Given the description of an element on the screen output the (x, y) to click on. 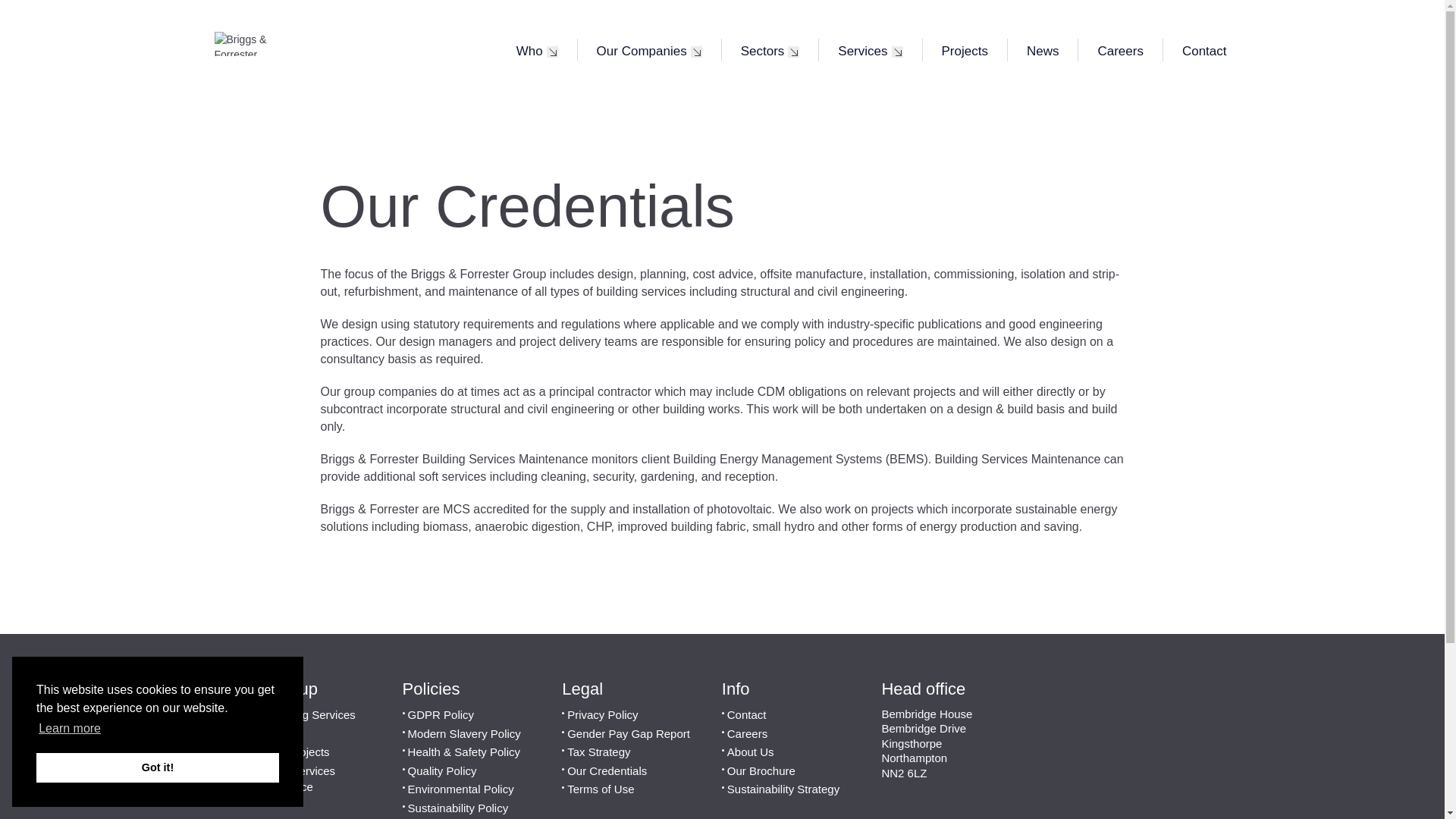
Our Companies (649, 48)
Got it! (157, 767)
Learn more (69, 728)
Sectors (770, 48)
Projects (963, 48)
News (1042, 48)
Careers (1119, 48)
Services (869, 48)
Contact (1204, 48)
Who (536, 48)
